Given the description of an element on the screen output the (x, y) to click on. 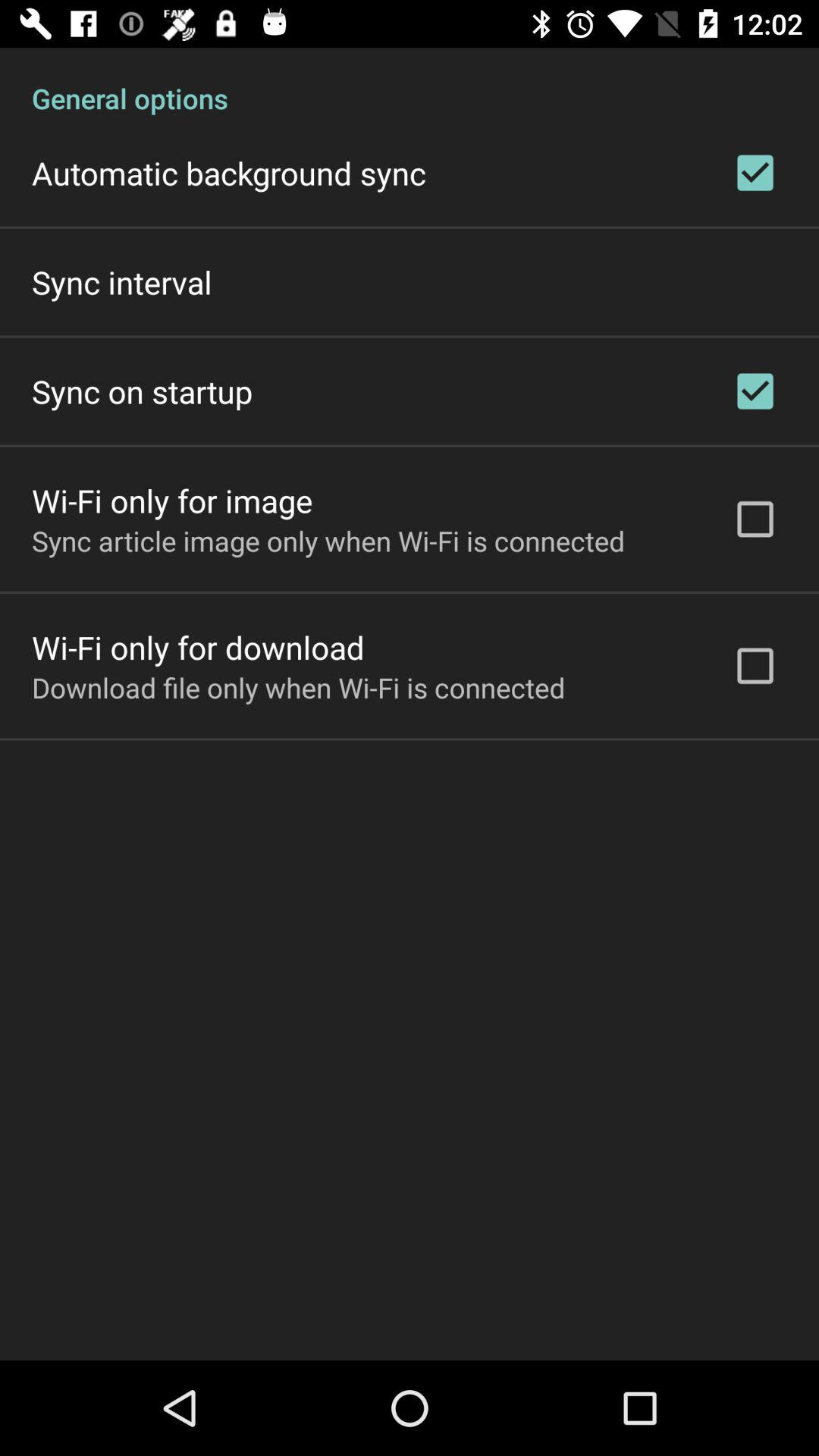
click icon below general options icon (228, 172)
